Given the description of an element on the screen output the (x, y) to click on. 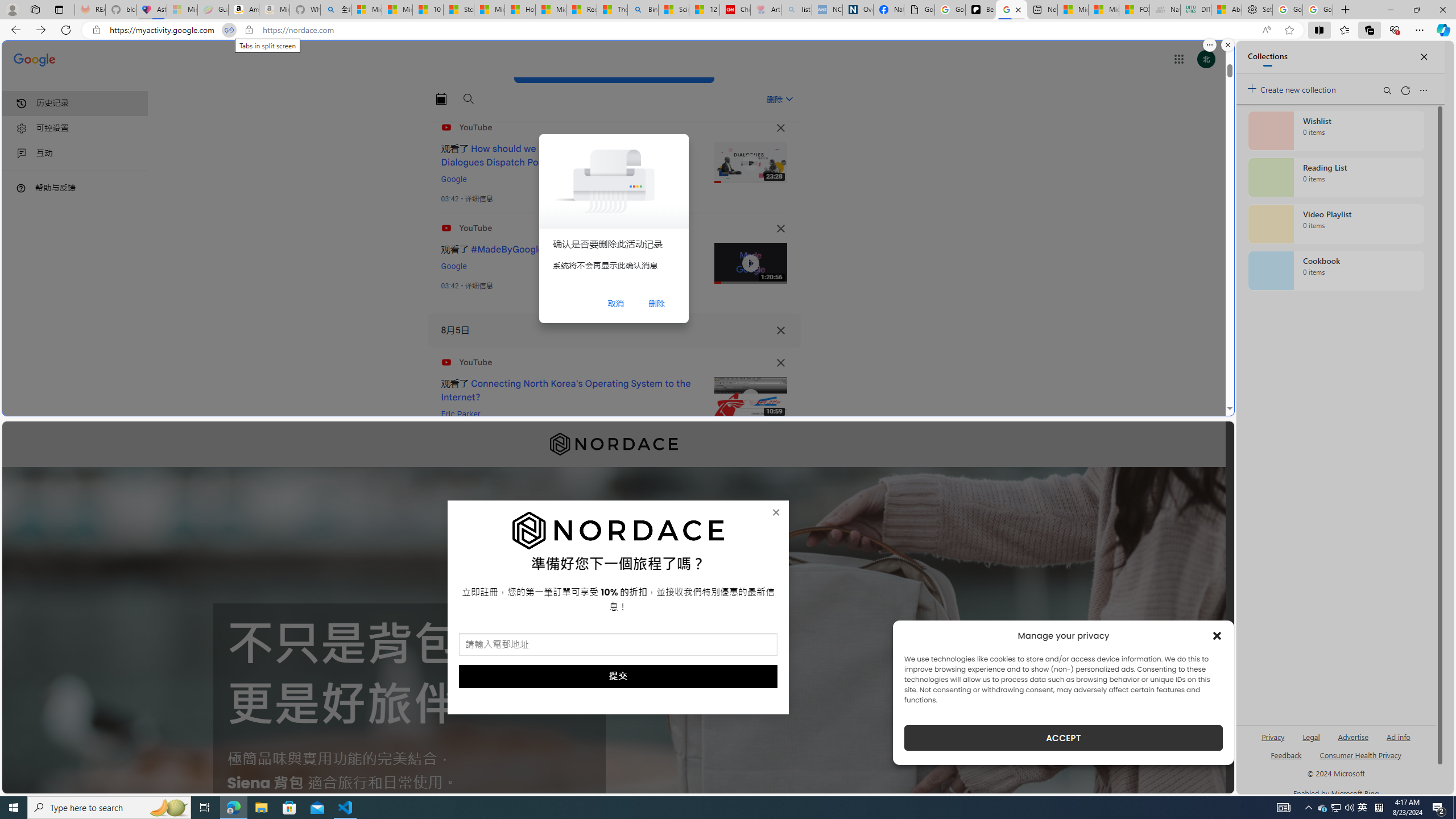
Eric Parker (460, 414)
AutomationID: sb_feedback (1286, 754)
Class: IVR0f NMm5M (750, 397)
Class: TjcpUd NMm5M (780, 362)
Tabs in split screen (228, 29)
AutomationID: input_5_1 (617, 644)
